Given the description of an element on the screen output the (x, y) to click on. 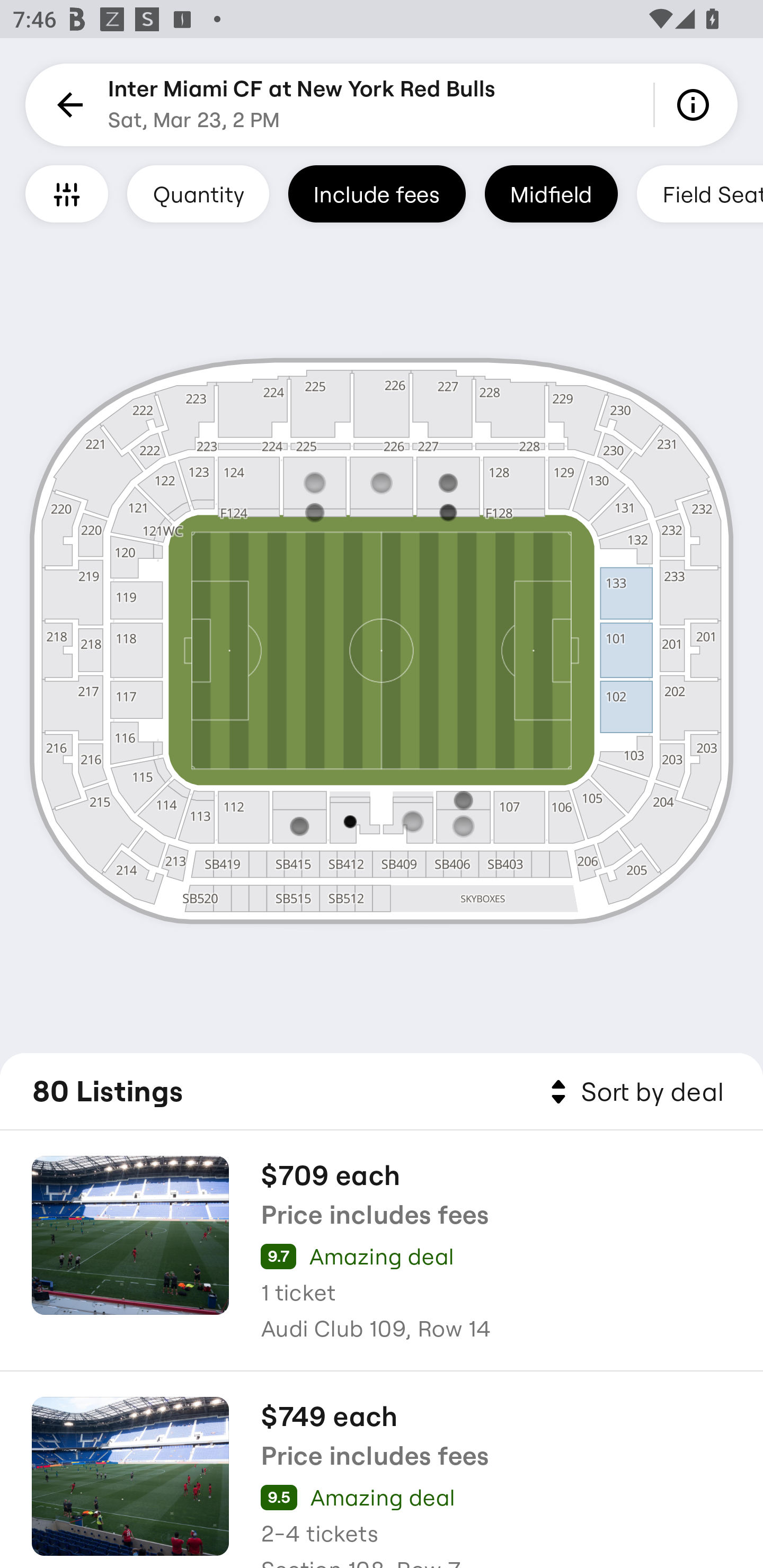
Back (66, 104)
Info (695, 104)
Filters and Accessible Seating (66, 193)
Quantity (198, 193)
Include fees (376, 193)
Midfield (551, 193)
Field Seats (700, 193)
Sort by deal (633, 1091)
